Given the description of an element on the screen output the (x, y) to click on. 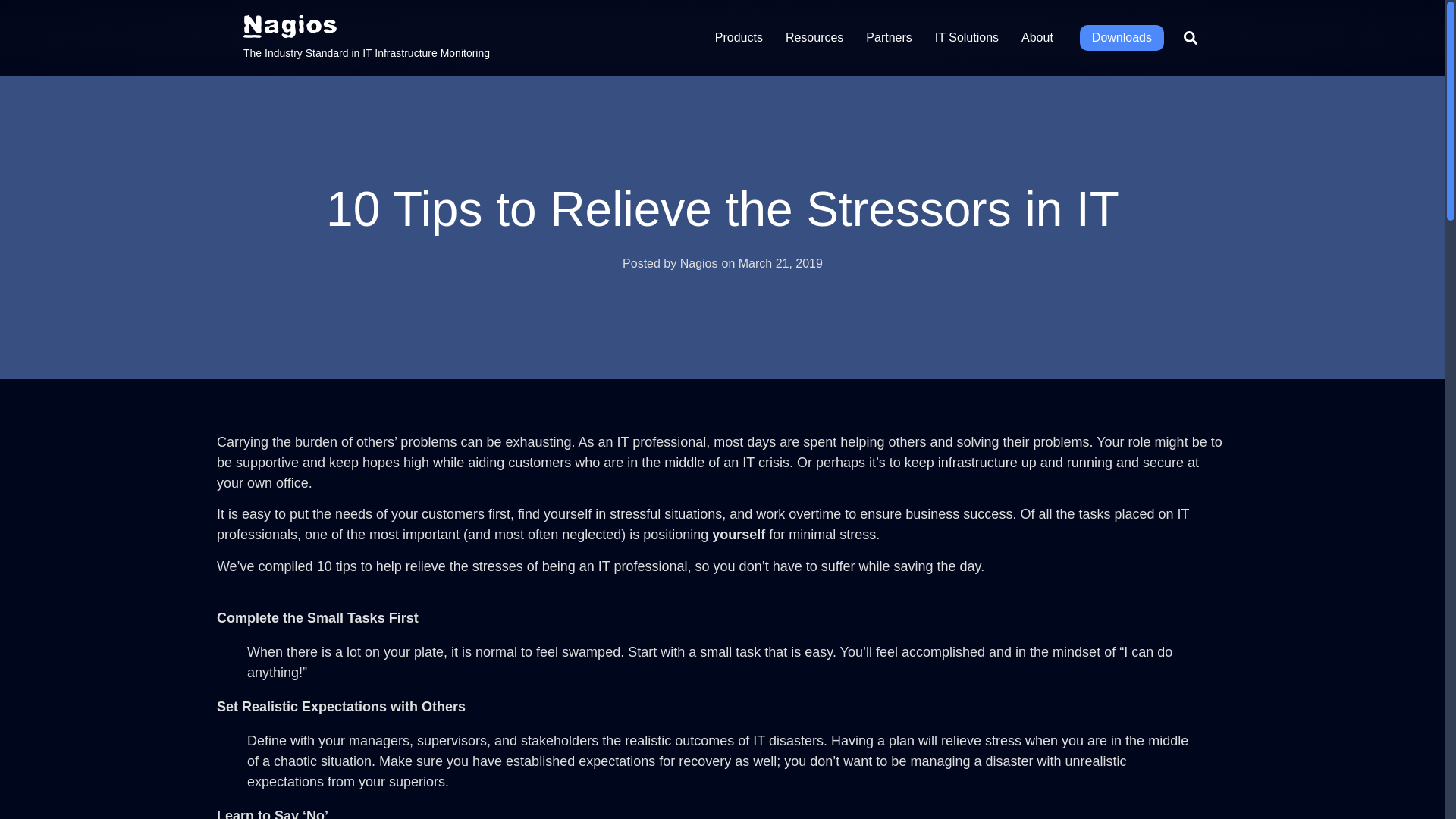
Resources (814, 37)
Partners (888, 37)
Products (738, 37)
About (1037, 37)
IT Solutions (966, 37)
